Given the description of an element on the screen output the (x, y) to click on. 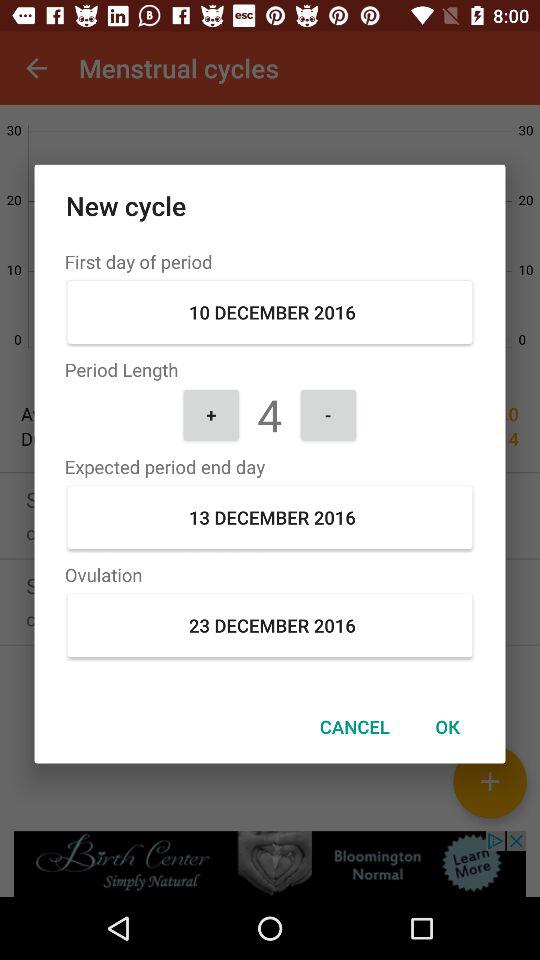
choose the icon at the bottom right corner (447, 726)
